Given the description of an element on the screen output the (x, y) to click on. 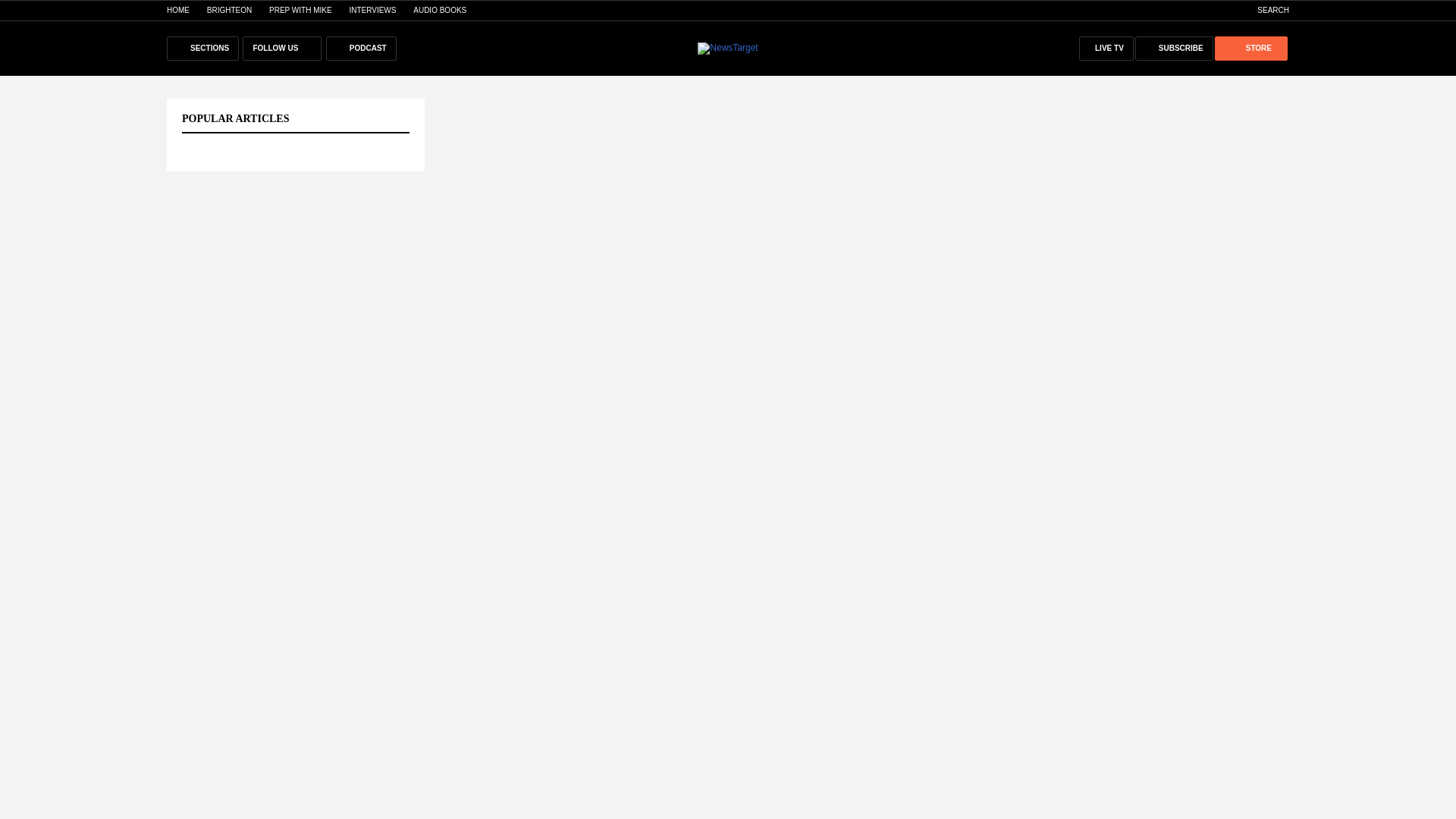
BRIGHTEON (228, 9)
SUBSCRIBE (1173, 48)
LIVE TV (1106, 48)
STORE (1250, 48)
AUDIO BOOKS (439, 9)
PREP WITH MIKE (300, 9)
HOME (178, 9)
SEARCH (1264, 9)
INTERVIEWS (372, 9)
PODCAST (361, 48)
